Given the description of an element on the screen output the (x, y) to click on. 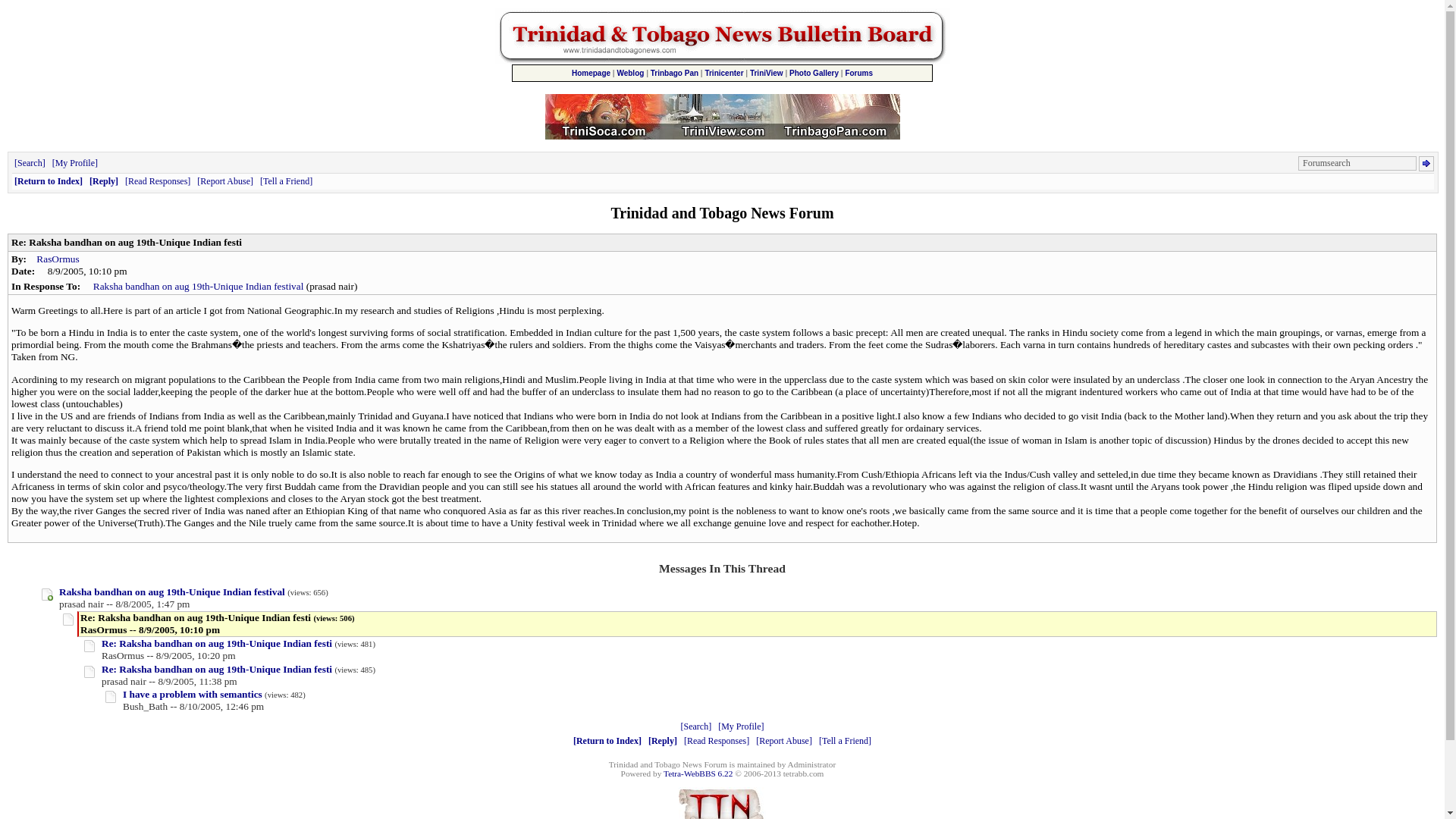
Tetra-WebBBS 6.22 (697, 773)
TriniView (766, 72)
Tell a Friend (844, 740)
Homepage (591, 72)
Weblog (629, 72)
Forums (858, 72)
Trinicenter (723, 72)
My Profile (739, 726)
Raksha bandhan on aug 19th-Unique Indian festival (172, 591)
I have a problem with semantics (192, 694)
Trinbago Pan (674, 72)
Read Responses (157, 181)
Photo Gallery (813, 72)
My Profile (74, 163)
